Given the description of an element on the screen output the (x, y) to click on. 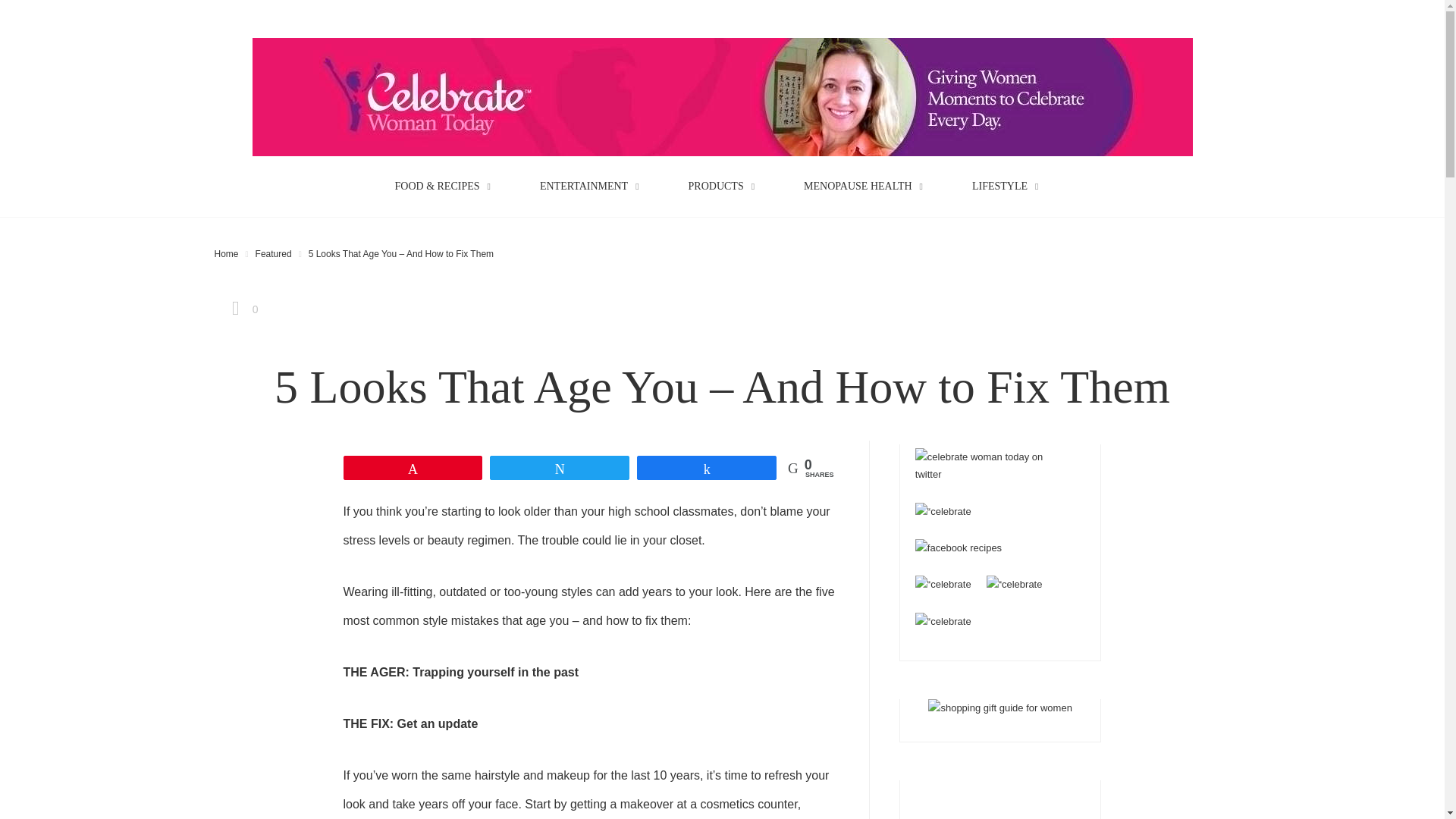
MENOPAUSE HEALTH (868, 186)
ENTERTAINMENT (595, 186)
PRODUCTS (727, 186)
